Given the description of an element on the screen output the (x, y) to click on. 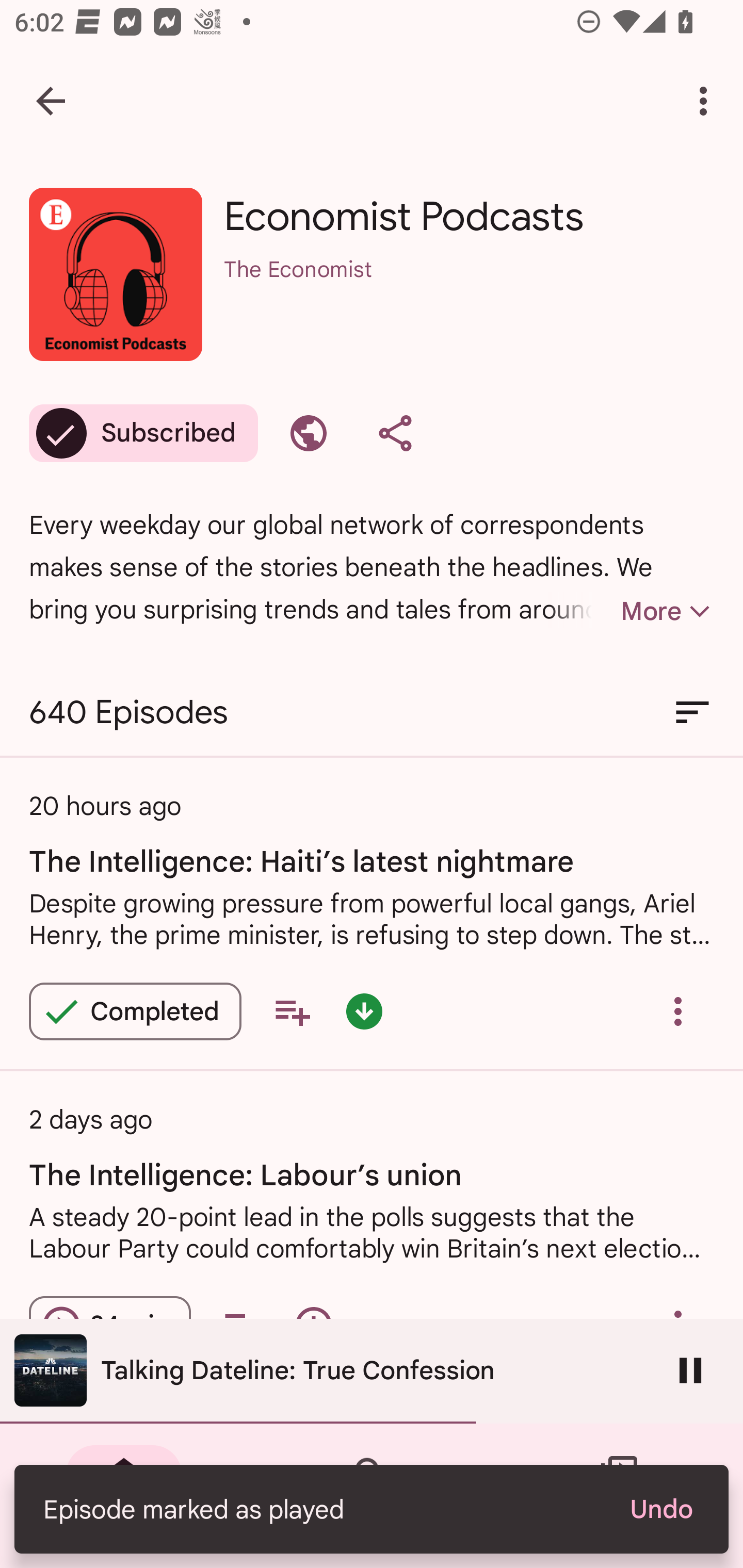
Navigate up (50, 101)
More options (706, 101)
The Economist (468, 295)
Subscribed (142, 433)
Visit website (308, 433)
Share (395, 433)
More (631, 610)
Sort (692, 712)
Add to your queue (291, 1011)
Episode downloaded - double tap for options (364, 1011)
Overflow menu (677, 1011)
Pause (690, 1370)
Undo (660, 1509)
